Given the description of an element on the screen output the (x, y) to click on. 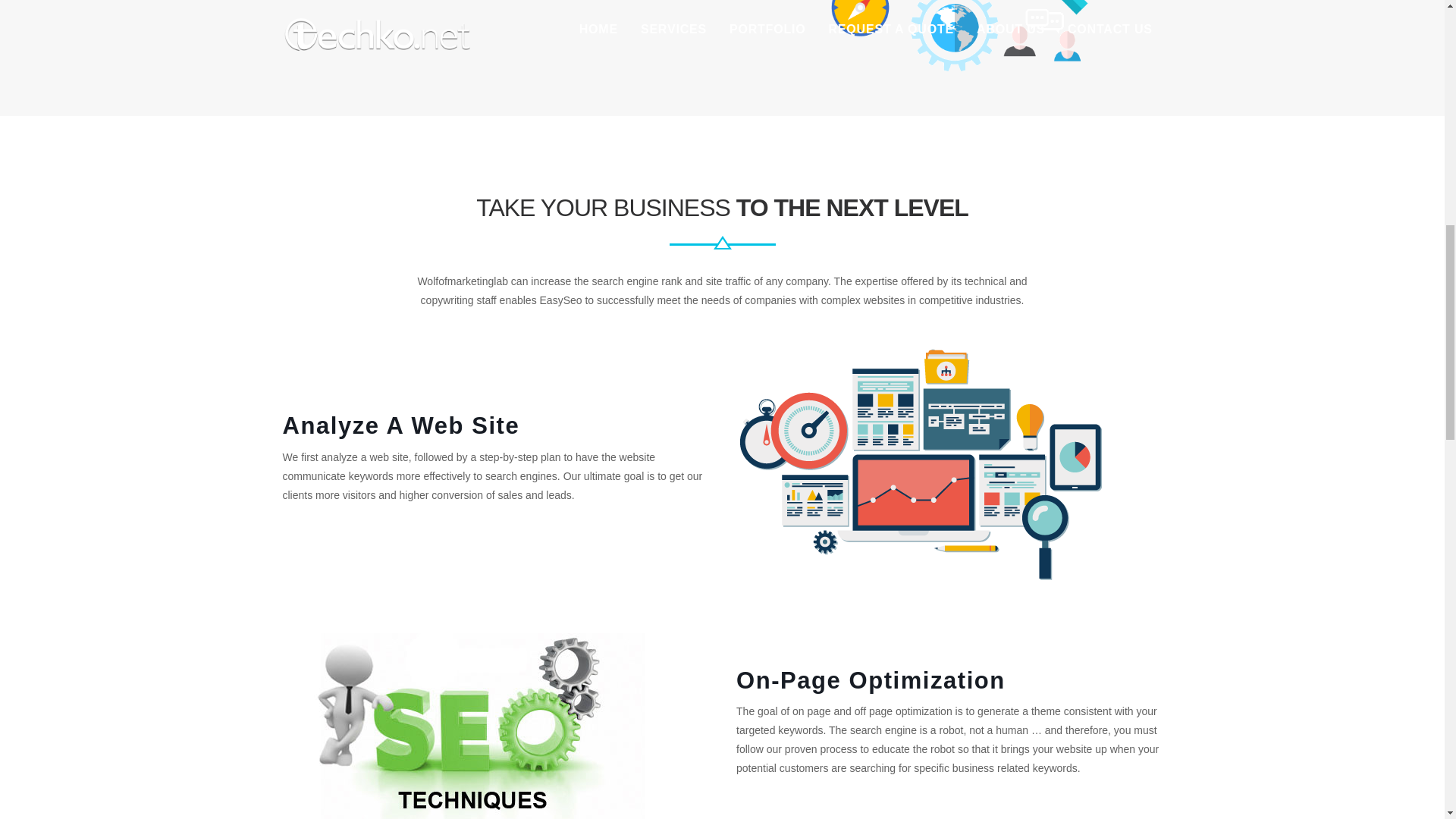
Search Engine Optimization (479, 726)
Search Engine Optimization (925, 465)
Search Engine Optimization (948, 36)
